Given the description of an element on the screen output the (x, y) to click on. 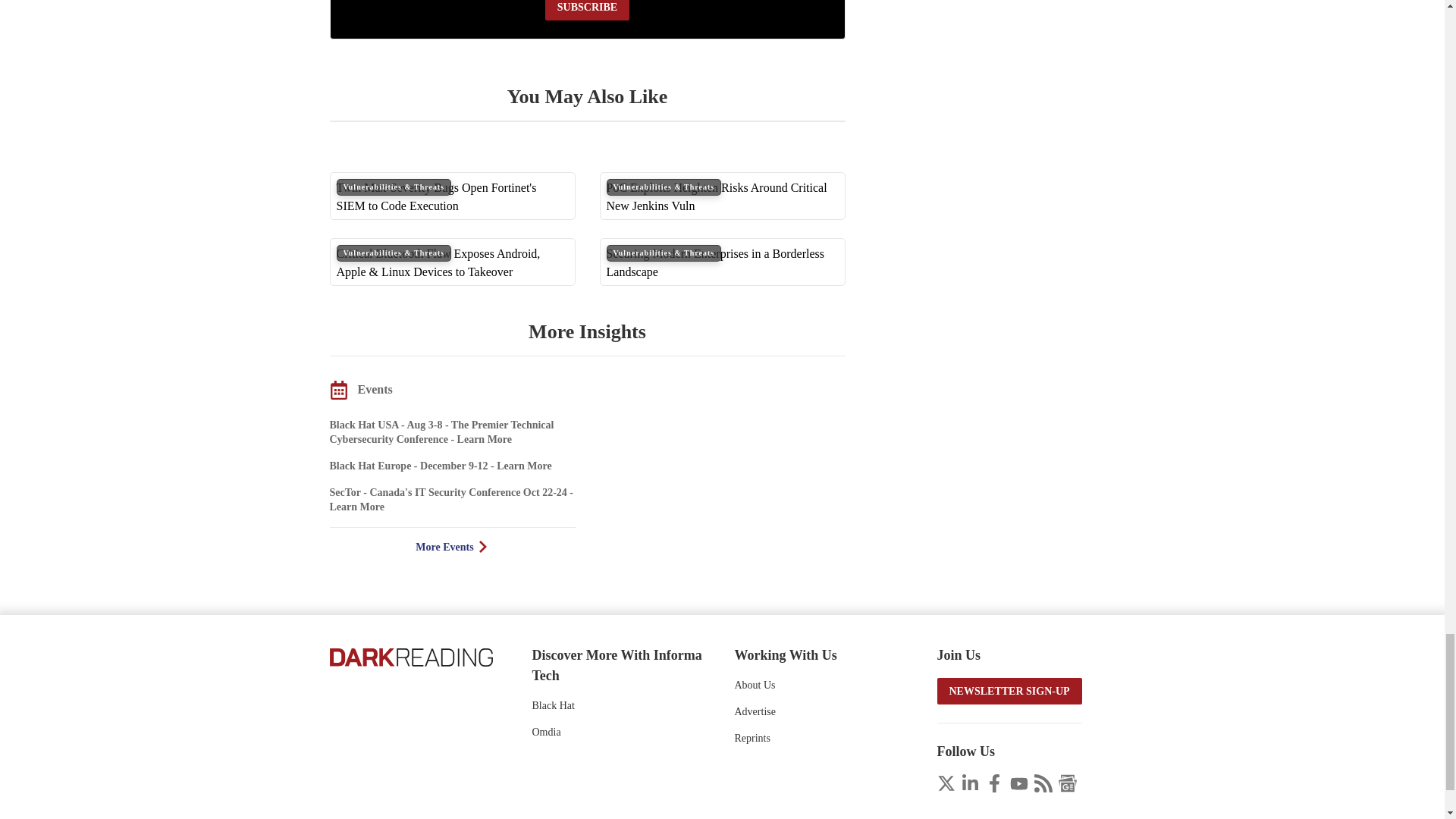
Logo (410, 655)
